Given the description of an element on the screen output the (x, y) to click on. 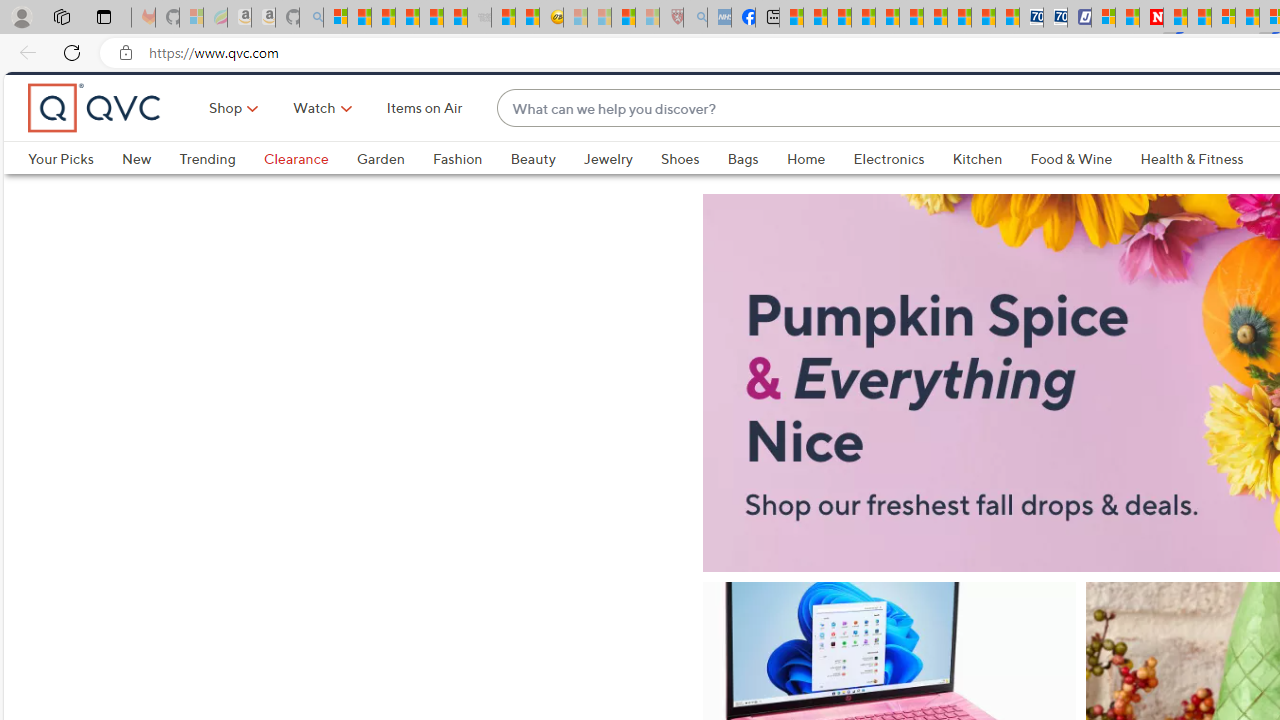
Jewelry (607, 192)
Beauty (532, 192)
The Weather Channel - MSN (383, 17)
Fashion (457, 192)
